Given the description of an element on the screen output the (x, y) to click on. 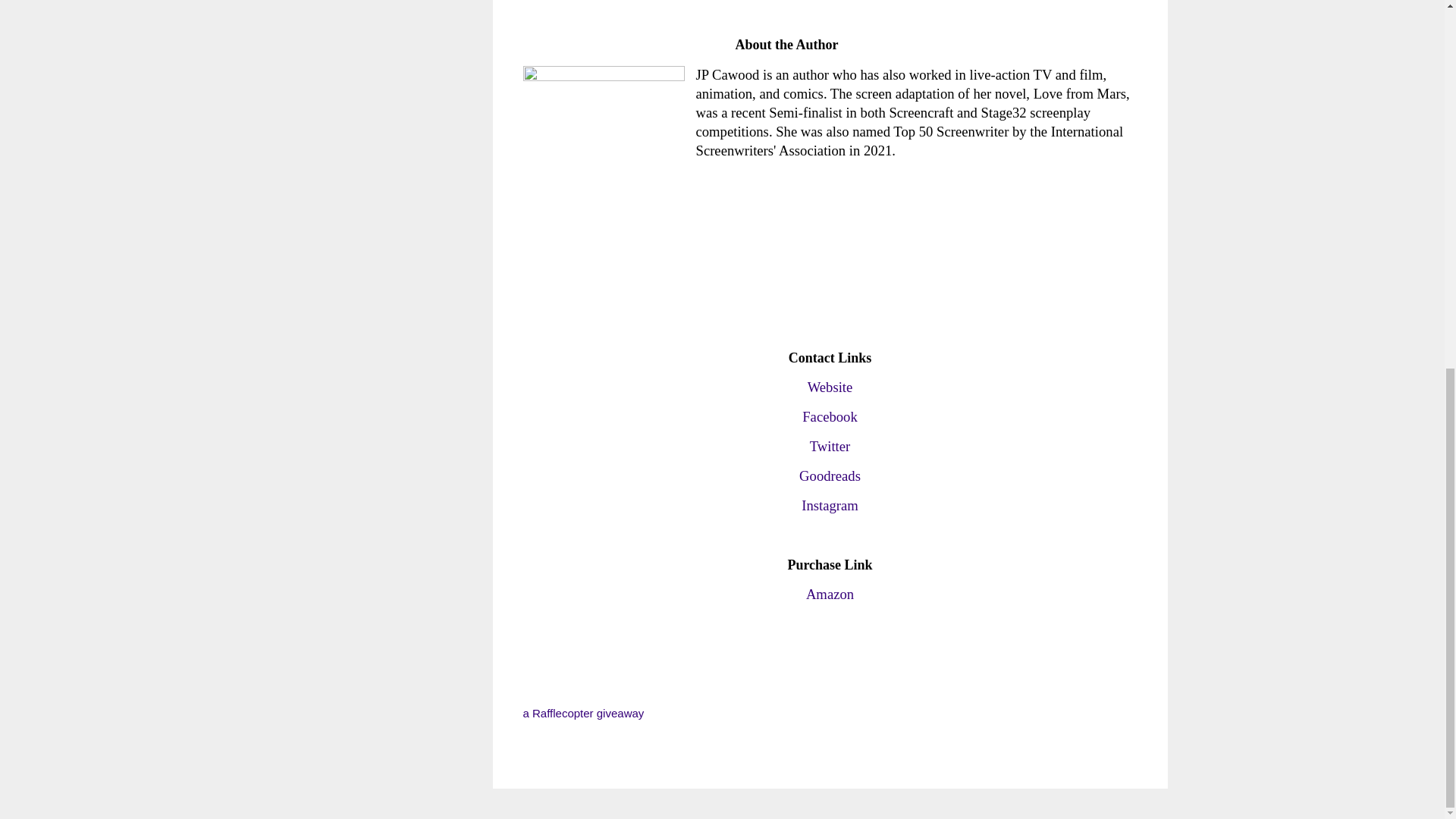
a Rafflecopter giveaway (583, 712)
Facebook (829, 416)
Amazon (829, 593)
Twitter (829, 446)
Instagram (830, 505)
Website (830, 386)
Goodreads (829, 475)
